Given the description of an element on the screen output the (x, y) to click on. 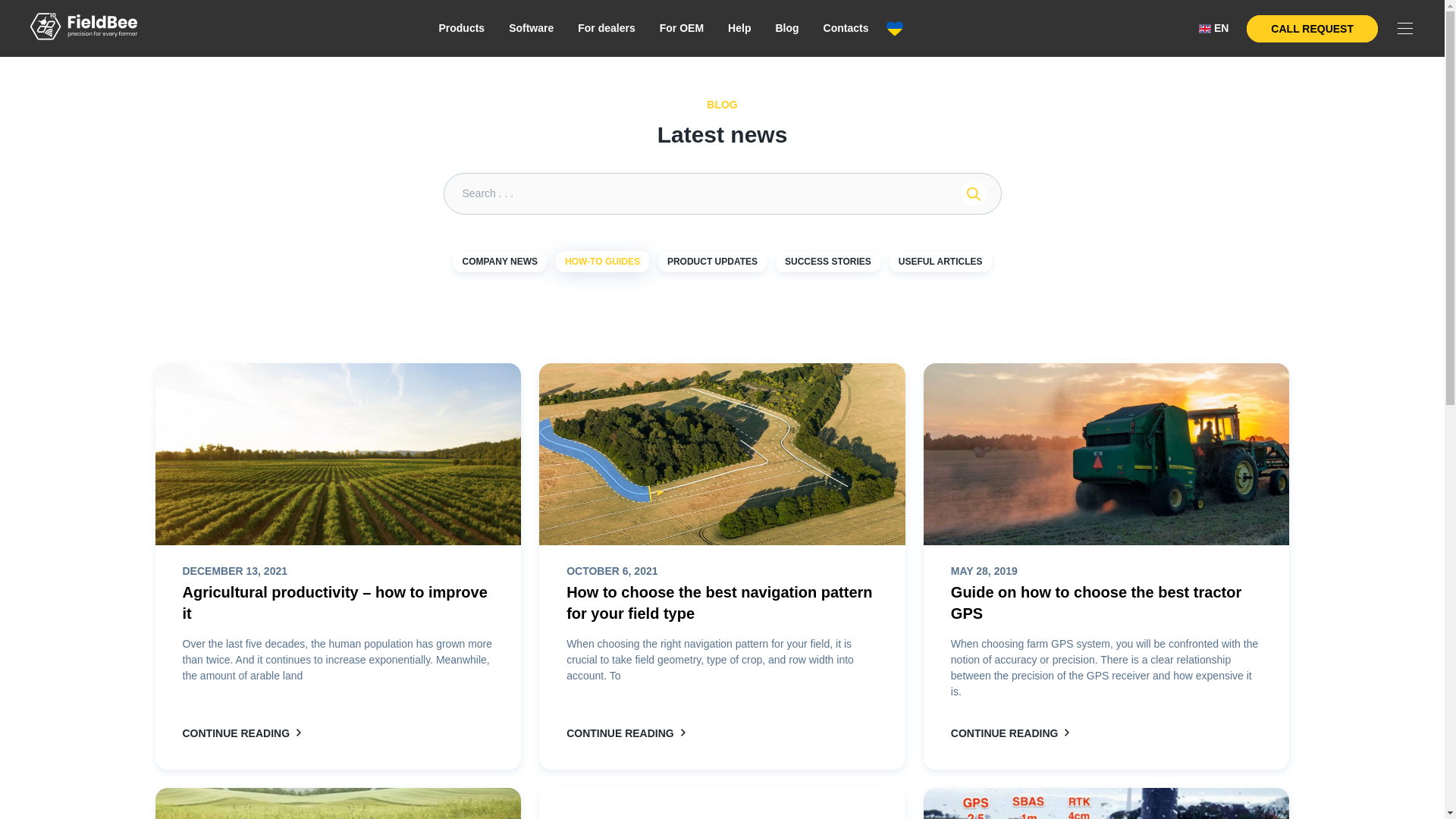
Software (530, 27)
EN (1213, 28)
Help (739, 27)
CALL REQUEST (1311, 28)
Blog (786, 27)
For OEM (681, 27)
Products (461, 27)
Contacts (846, 27)
For dealers (606, 27)
